Given the description of an element on the screen output the (x, y) to click on. 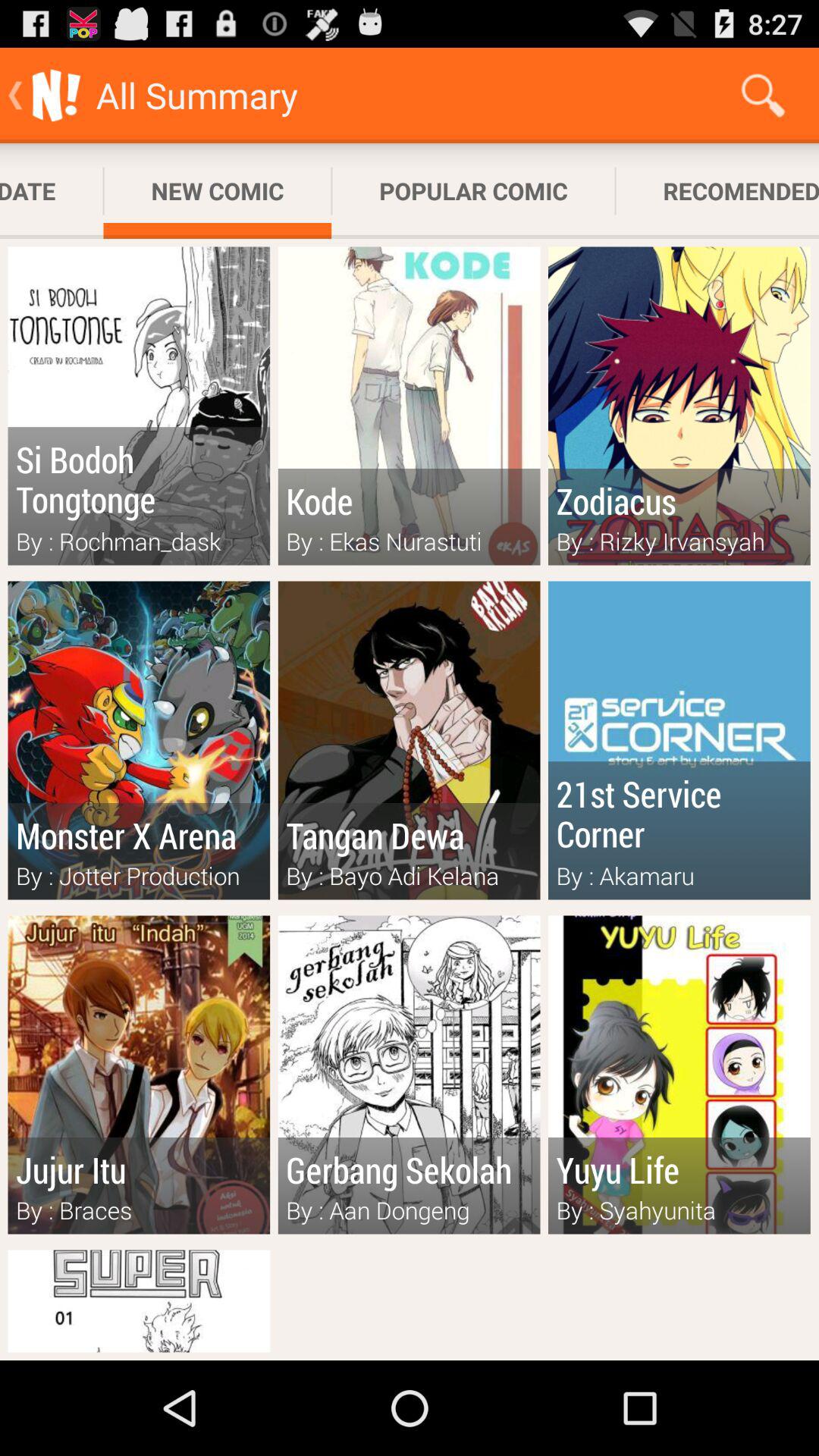
flip to the popular comic item (473, 190)
